Given the description of an element on the screen output the (x, y) to click on. 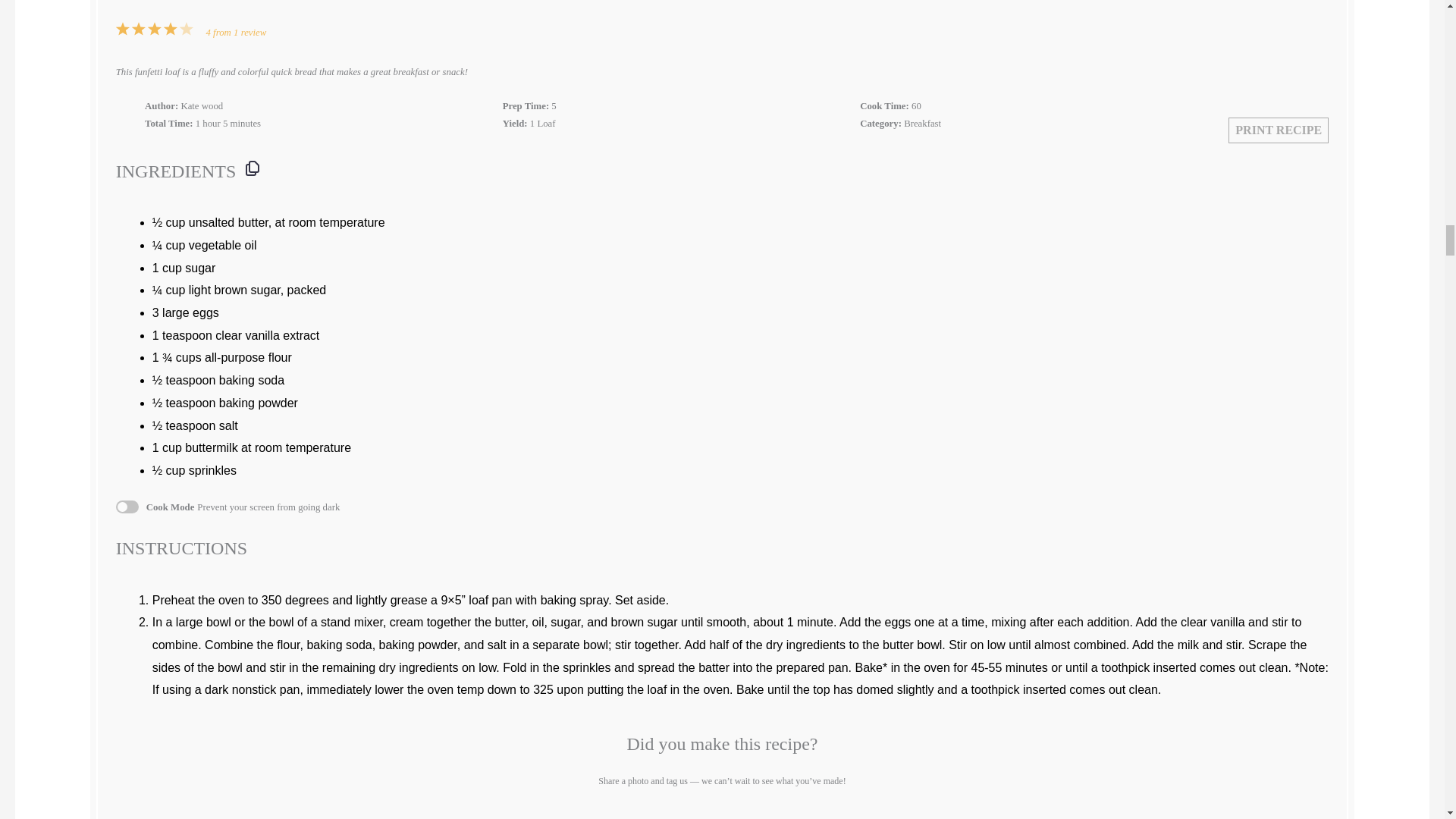
Copy to clipboard Copy to clipboard (252, 167)
